Given the description of an element on the screen output the (x, y) to click on. 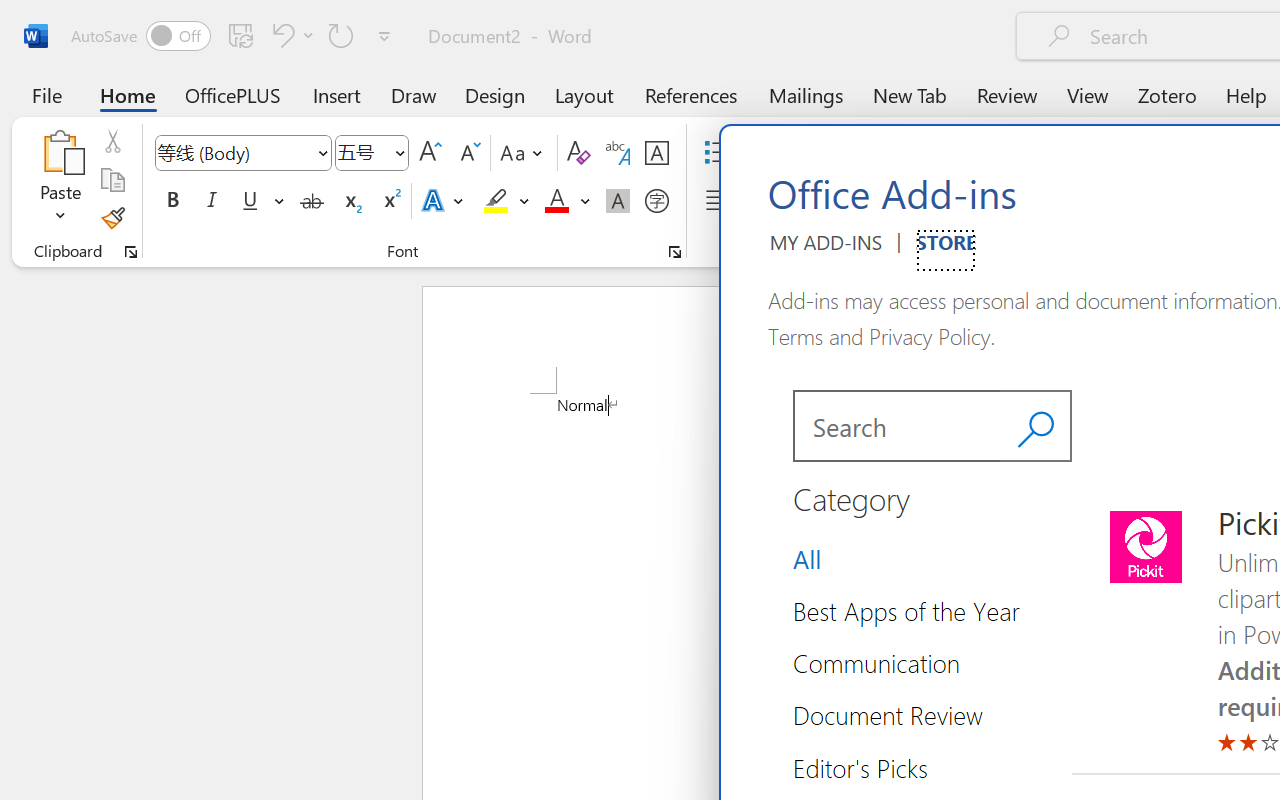
Clear Formatting (578, 153)
MY ADD-INS (825, 249)
Office Clipboard... (131, 252)
Font Color Red (556, 201)
File Tab (46, 94)
Undo Apply Quick Style (290, 35)
Search (1035, 426)
Open (399, 152)
Category Group Document Review 4 of 14 (895, 715)
Category Group Best Apps of the Year 2 of 14 (913, 610)
Layout (584, 94)
Text Effects and Typography (444, 201)
Character Shading (618, 201)
Repeat Doc Close (341, 35)
Review (1007, 94)
